Given the description of an element on the screen output the (x, y) to click on. 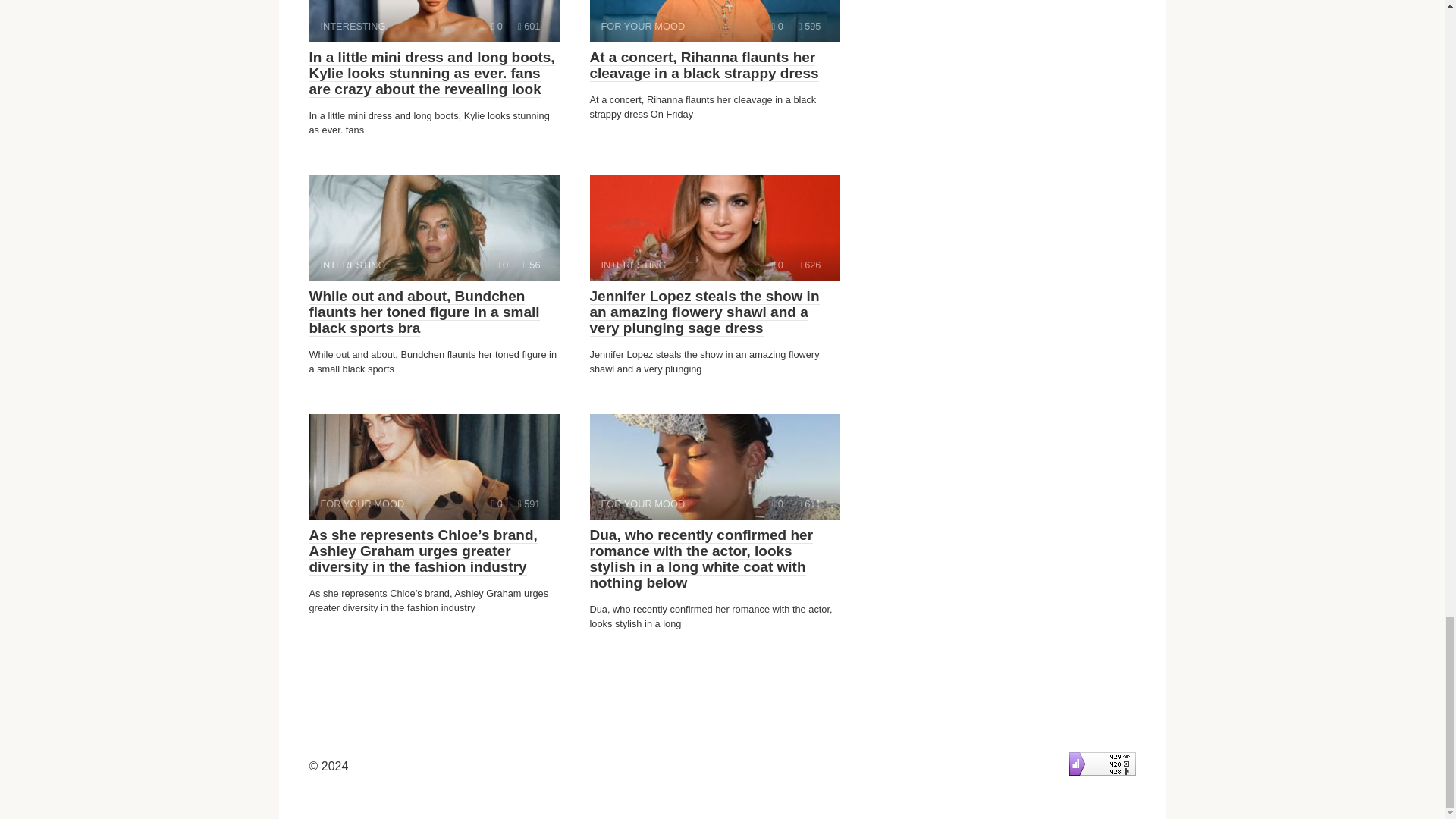
Views (433, 228)
Views (809, 25)
Comments (809, 265)
Comments (497, 503)
Comments (502, 265)
Comments (433, 467)
Views (777, 265)
Comments (497, 25)
